Given the description of an element on the screen output the (x, y) to click on. 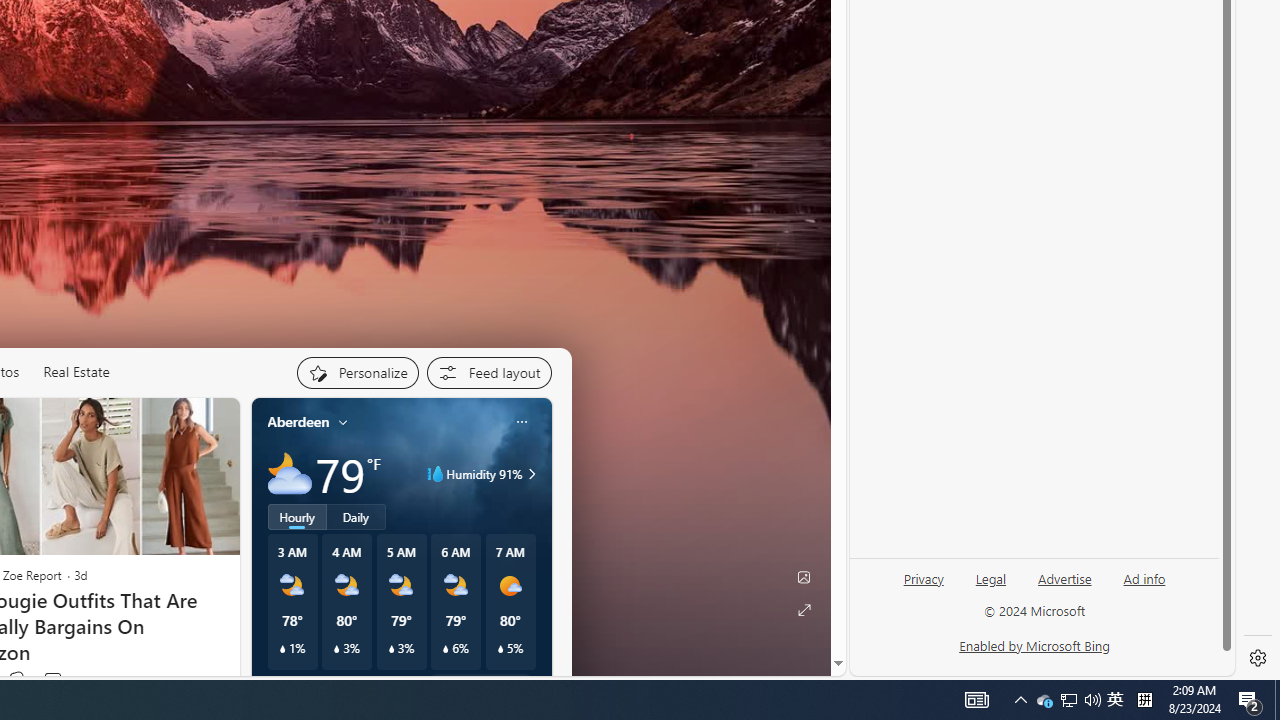
Real Estate (76, 371)
Feed settings (488, 372)
Mostly cloudy (289, 474)
Ad info (1144, 579)
Aberdeen (298, 422)
Class: icon-img (521, 421)
My location (343, 421)
Hourly (296, 516)
